Given the description of an element on the screen output the (x, y) to click on. 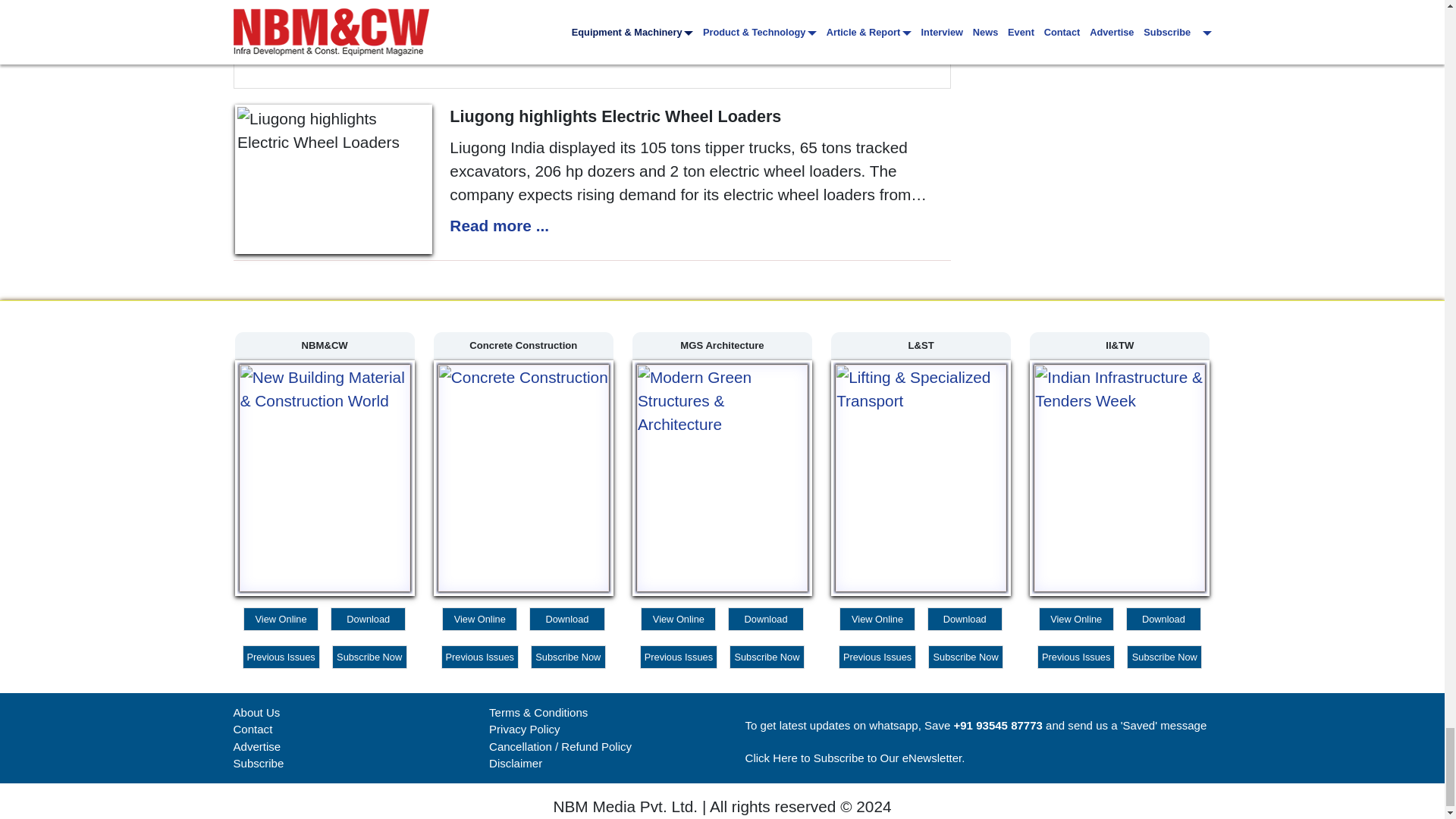
Manitou Handling Your World (591, 43)
